Given the description of an element on the screen output the (x, y) to click on. 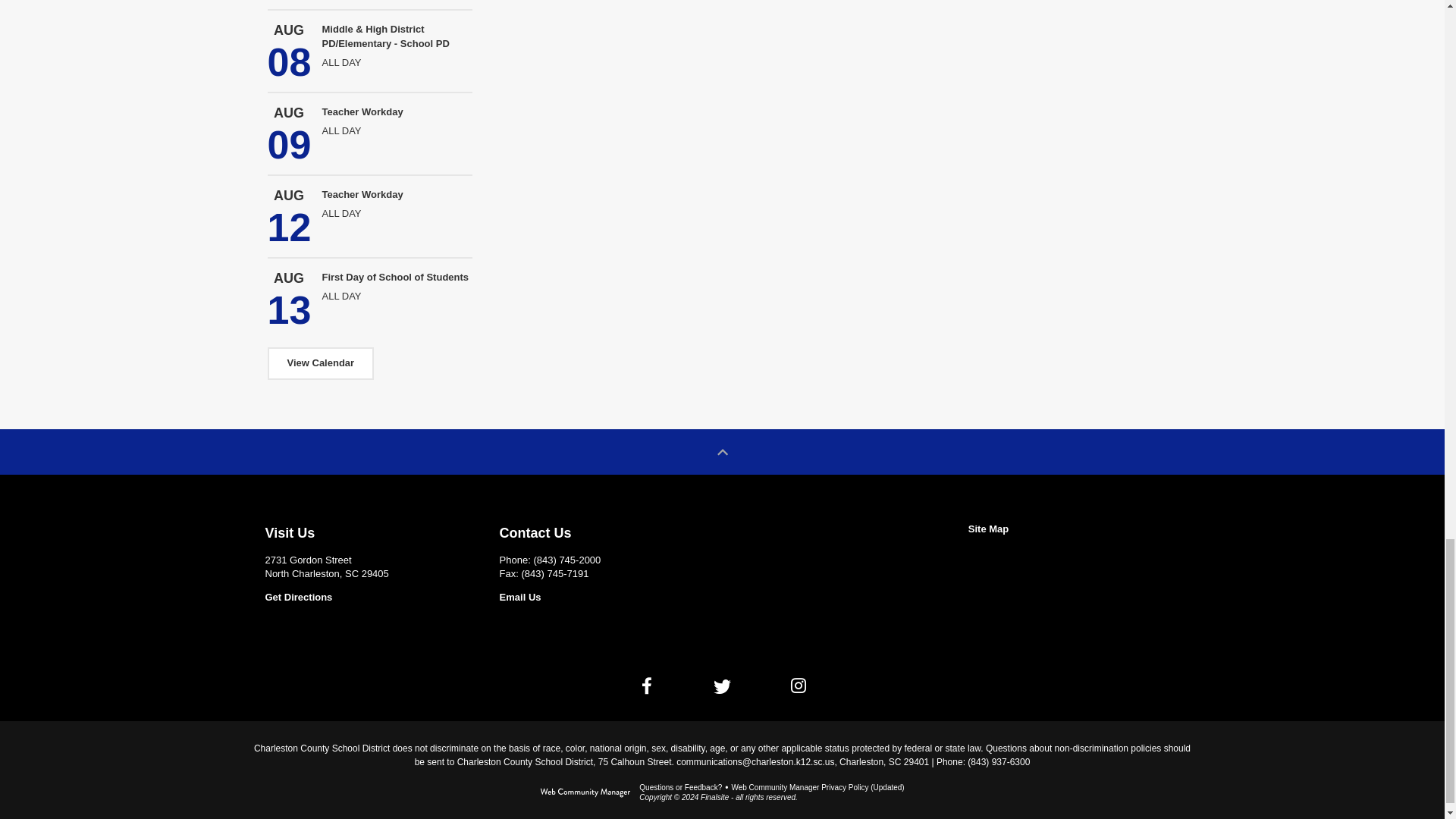
Click to email the primary contact (680, 786)
Finalsite - all rights reserved (585, 796)
